Given the description of an element on the screen output the (x, y) to click on. 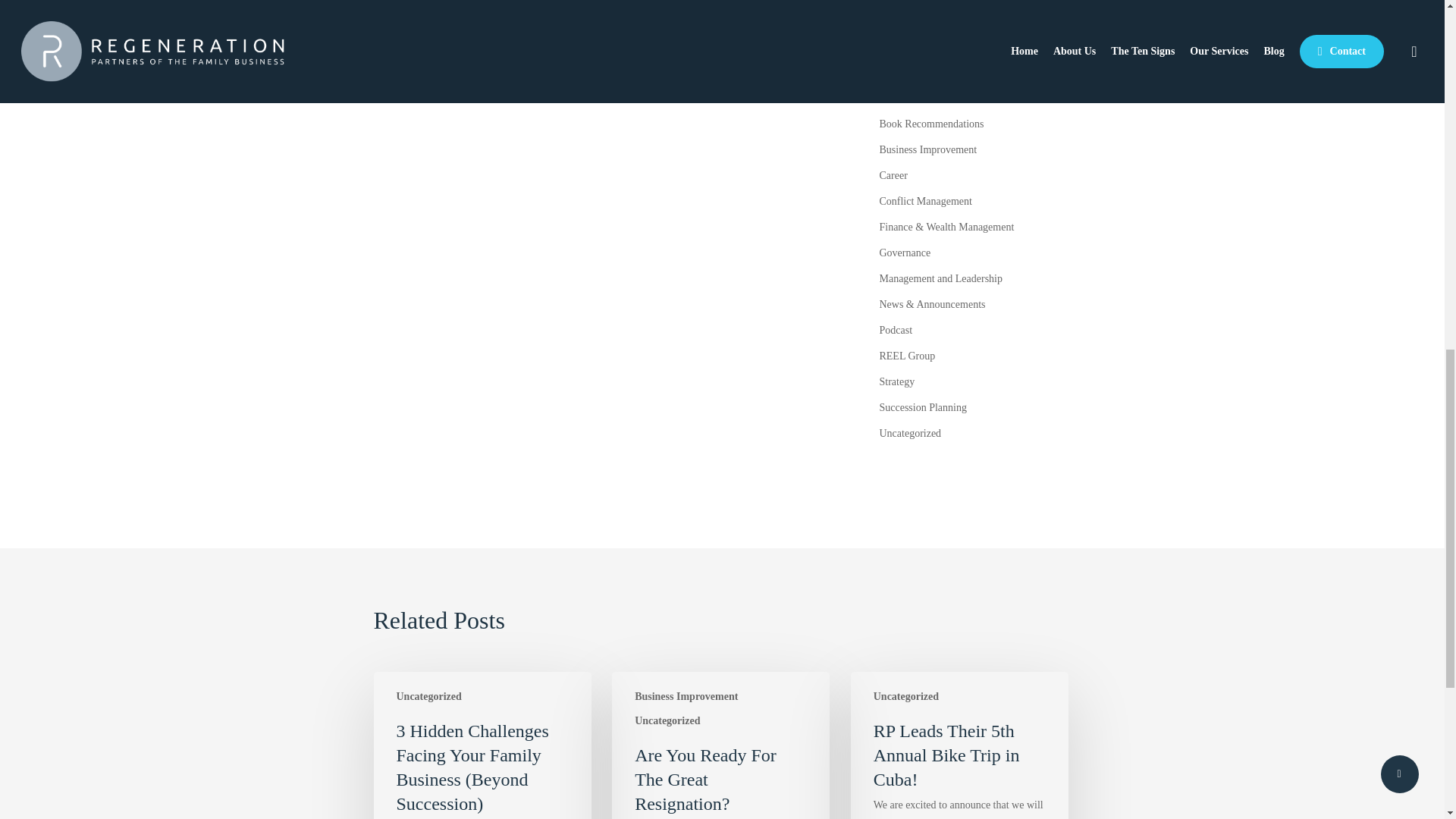
Addiction (974, 98)
Book Recommendations (974, 124)
Career (974, 175)
Business Improvement (974, 149)
